Given the description of an element on the screen output the (x, y) to click on. 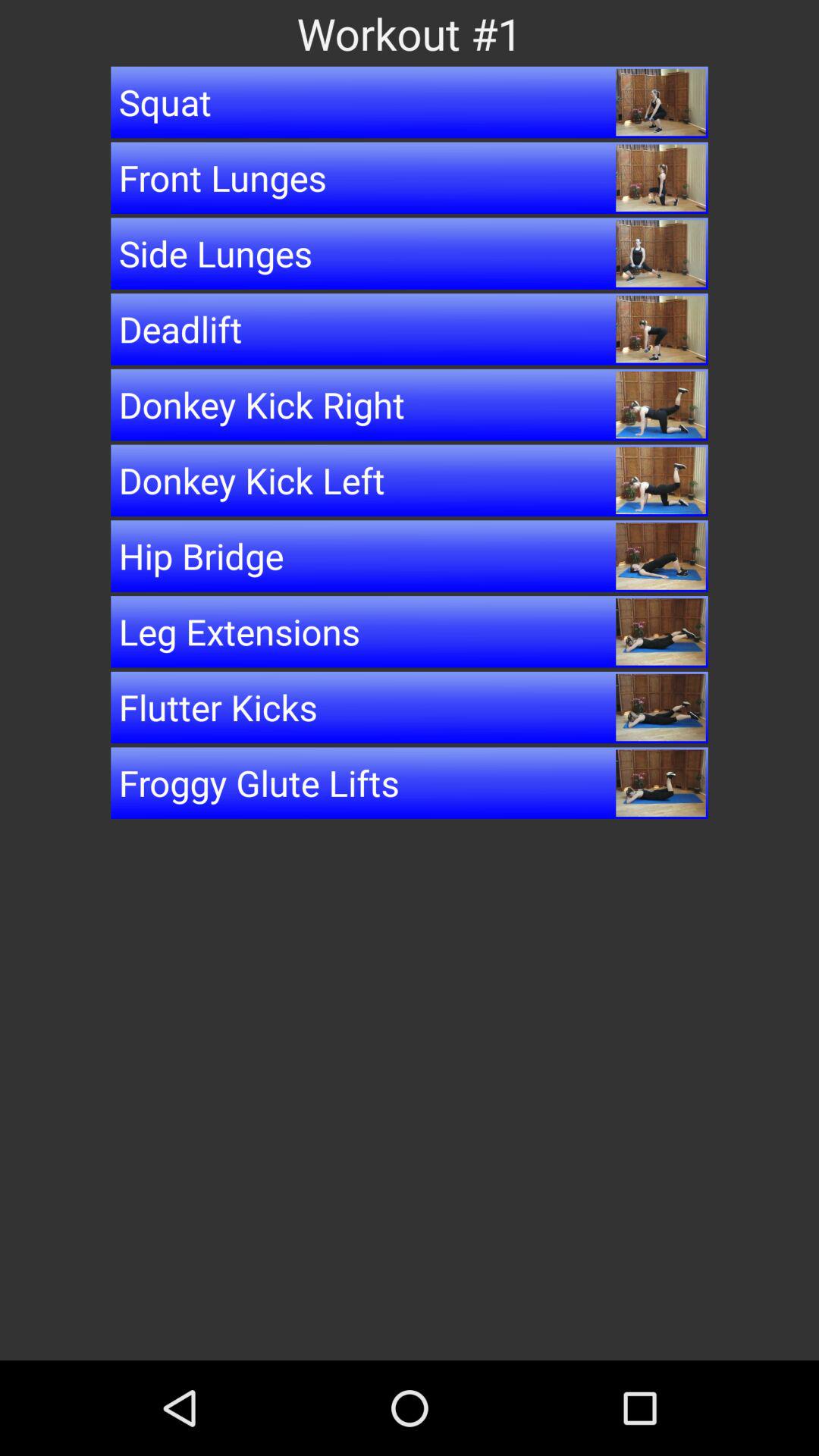
launch the icon below donkey kick left (409, 556)
